Given the description of an element on the screen output the (x, y) to click on. 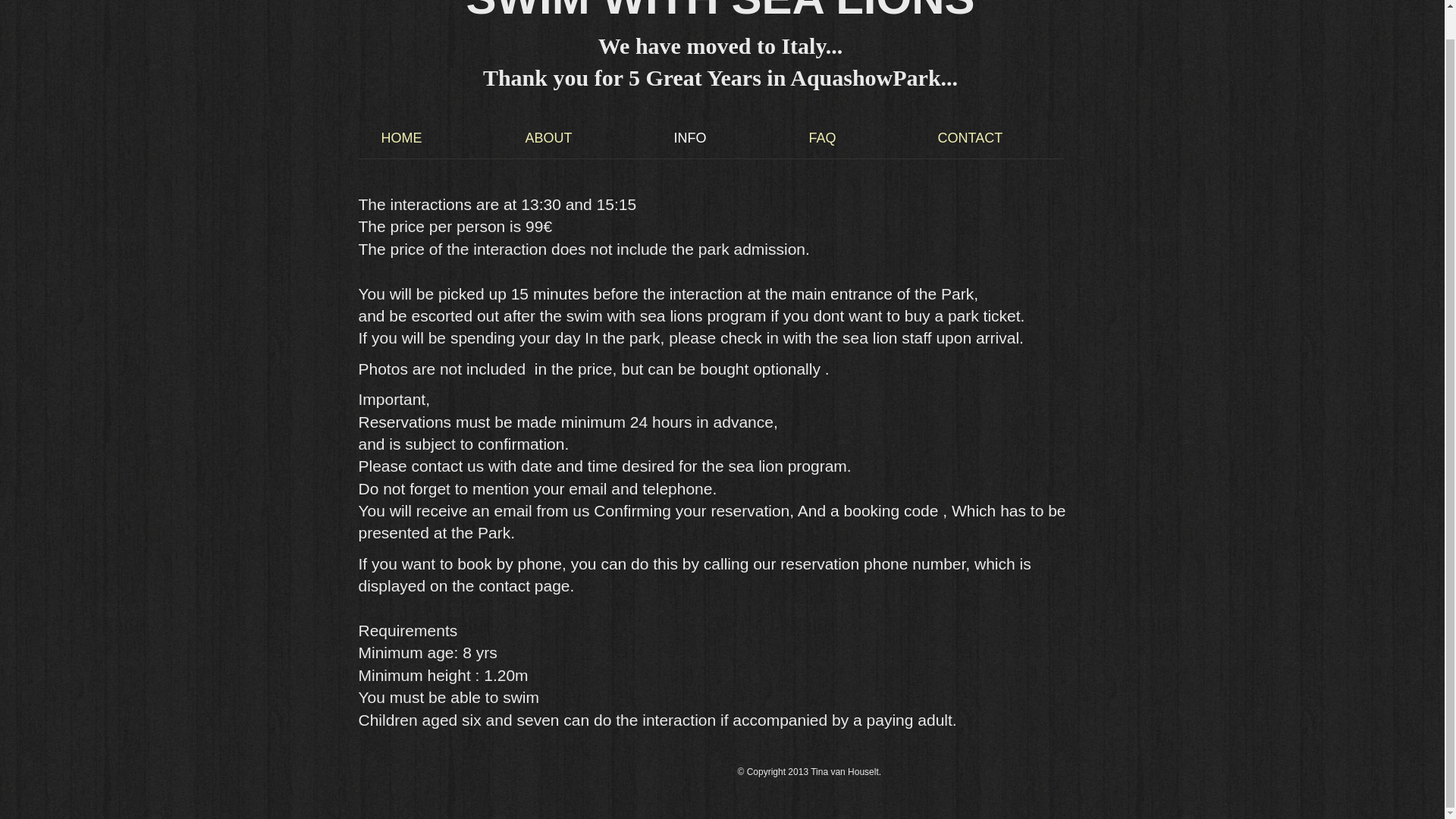
INFO (729, 137)
FAQ (861, 137)
HOME (441, 137)
ABOUT (587, 137)
CONTACT (1008, 137)
